Given the description of an element on the screen output the (x, y) to click on. 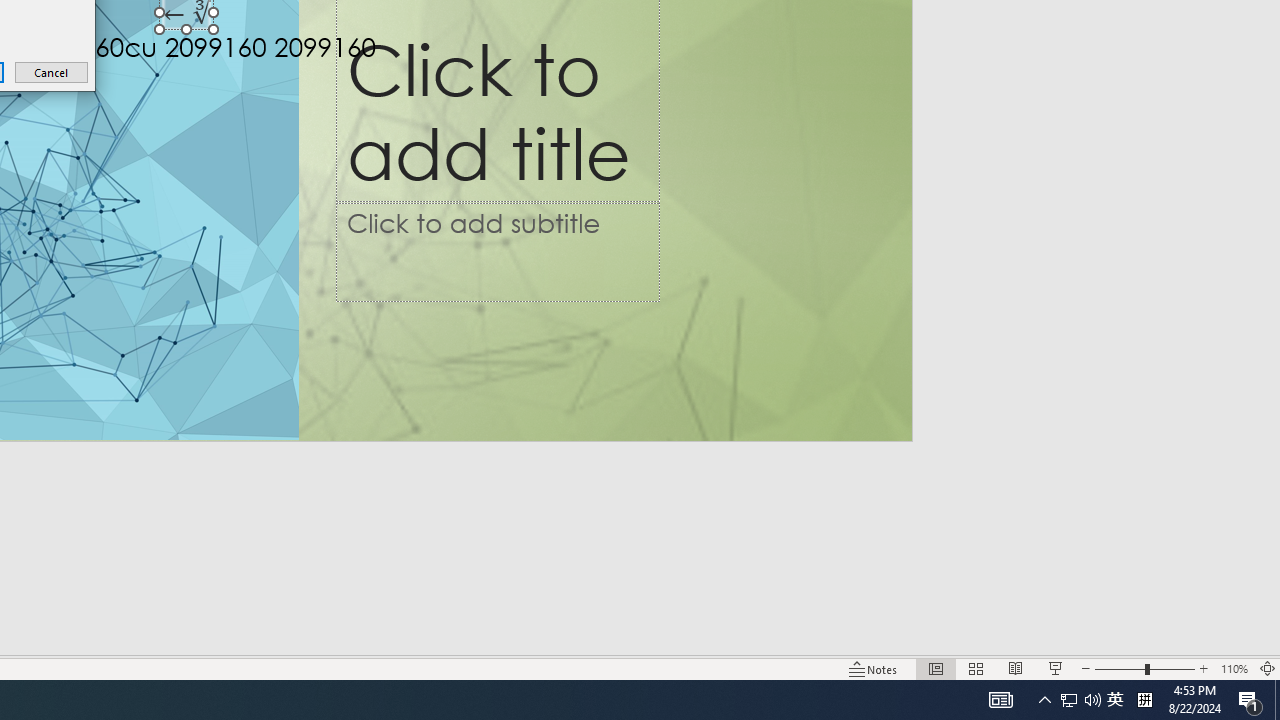
Cancel (51, 72)
Action Center, 1 new notification (1250, 699)
